Given the description of an element on the screen output the (x, y) to click on. 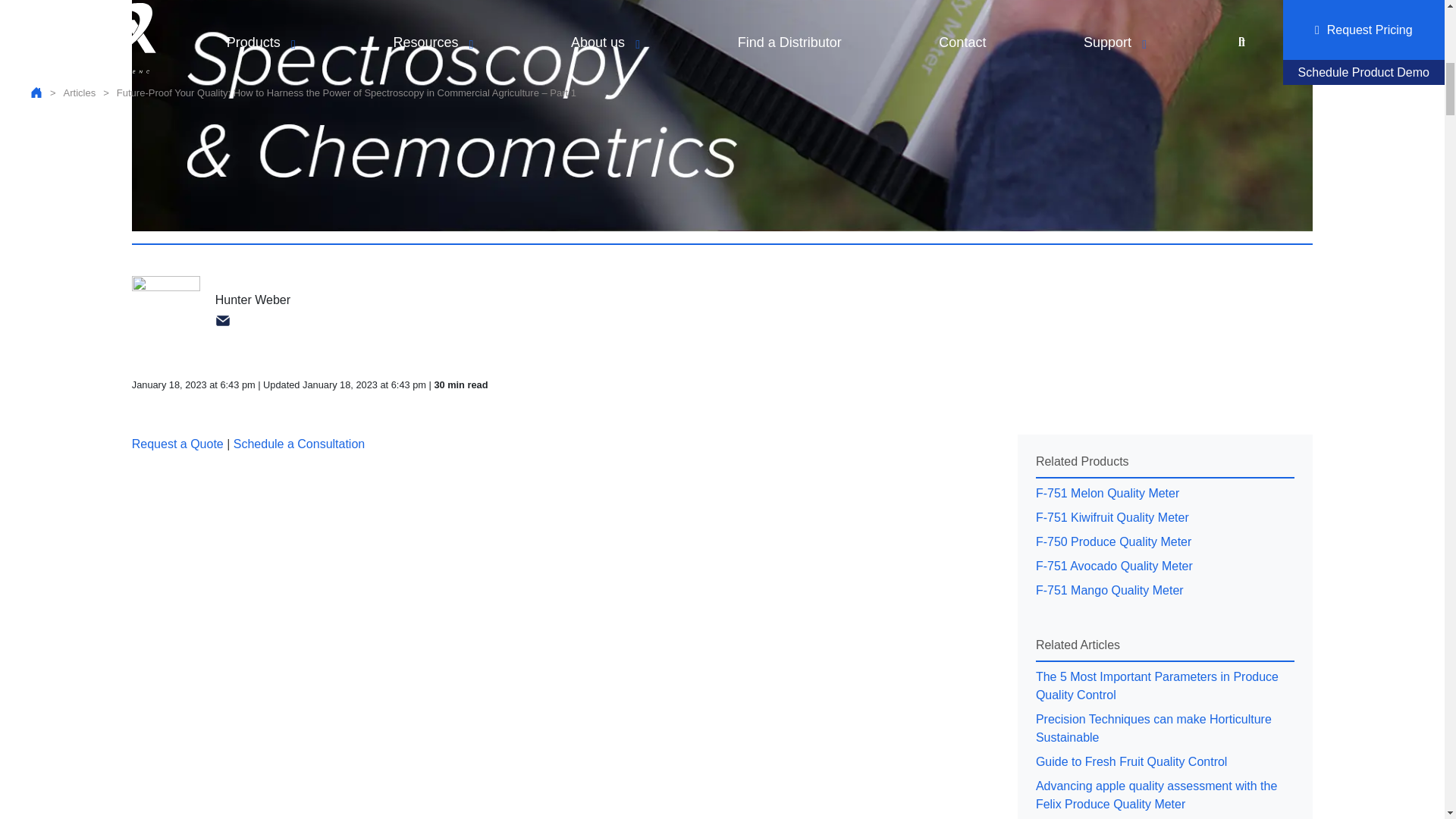
F-751 Mango Quality Meter (1164, 590)
F-751 Melon Quality Meter (1164, 493)
F-751 Avocado Quality Meter (1164, 566)
F-751 Kiwifruit Quality Meter (1164, 517)
F-750 Produce Quality Meter (1164, 542)
